Given the description of an element on the screen output the (x, y) to click on. 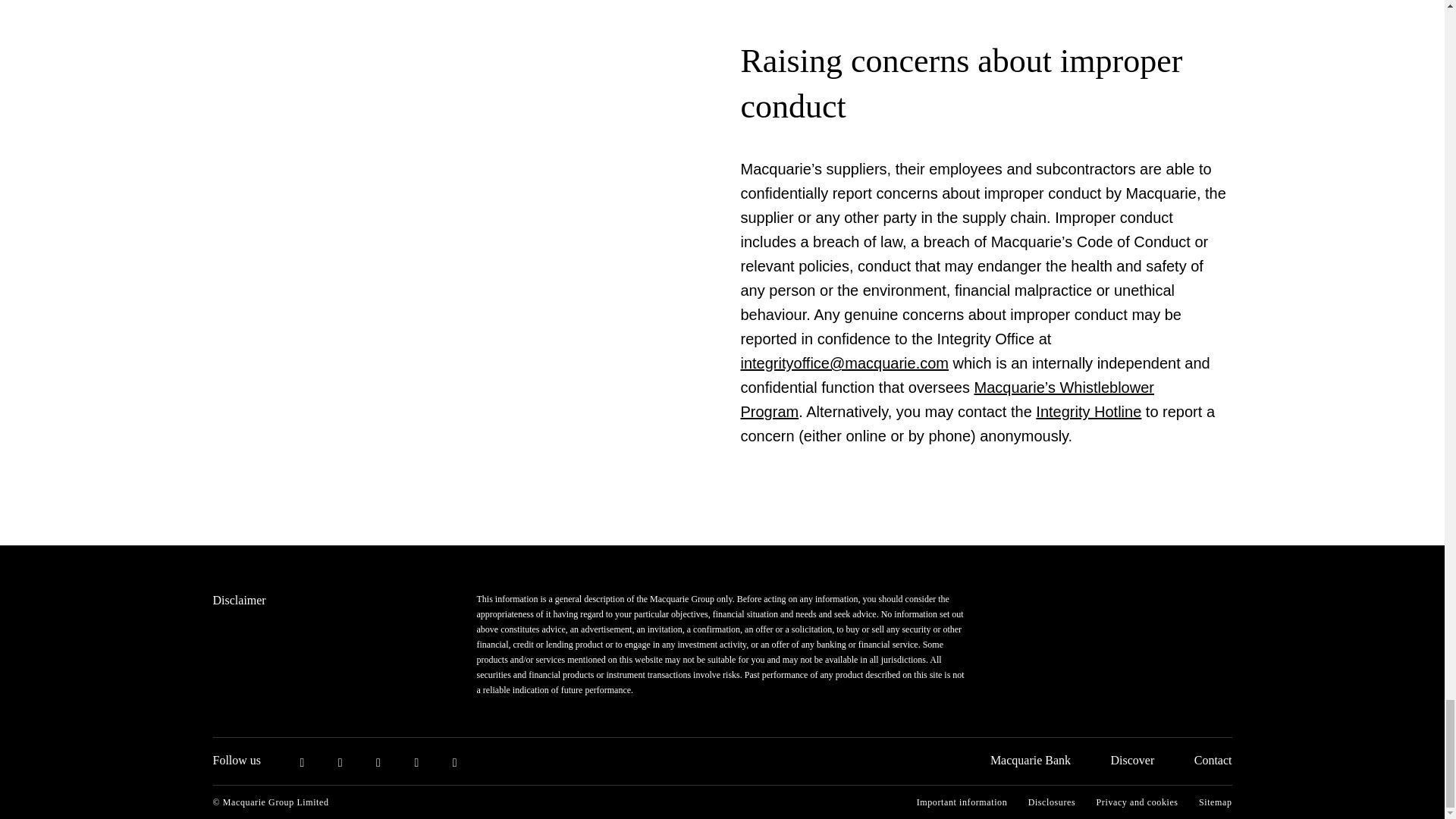
URL link to integrity hotline  (1088, 411)
